Given the description of an element on the screen output the (x, y) to click on. 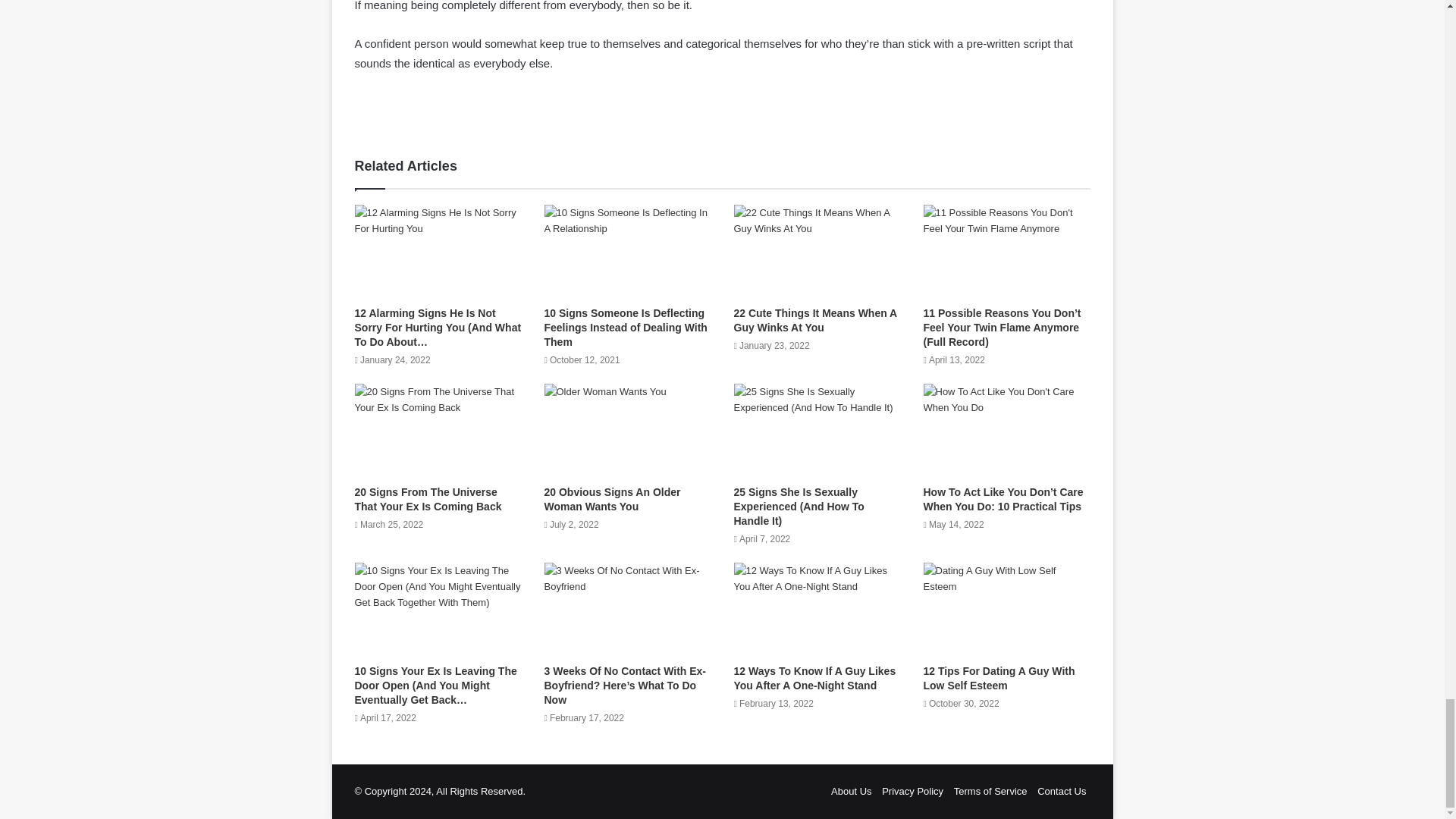
20 Signs From The Universe That Your Ex Is Coming Back (428, 499)
12 Ways To Know If A Guy Likes You After A One-Night Stand (814, 678)
20 Obvious Signs An Older Woman Wants You (612, 499)
12 Tips For Dating A Guy With Low Self Esteem (999, 678)
22 Cute Things It Means When A Guy Winks At You (814, 320)
